Given the description of an element on the screen output the (x, y) to click on. 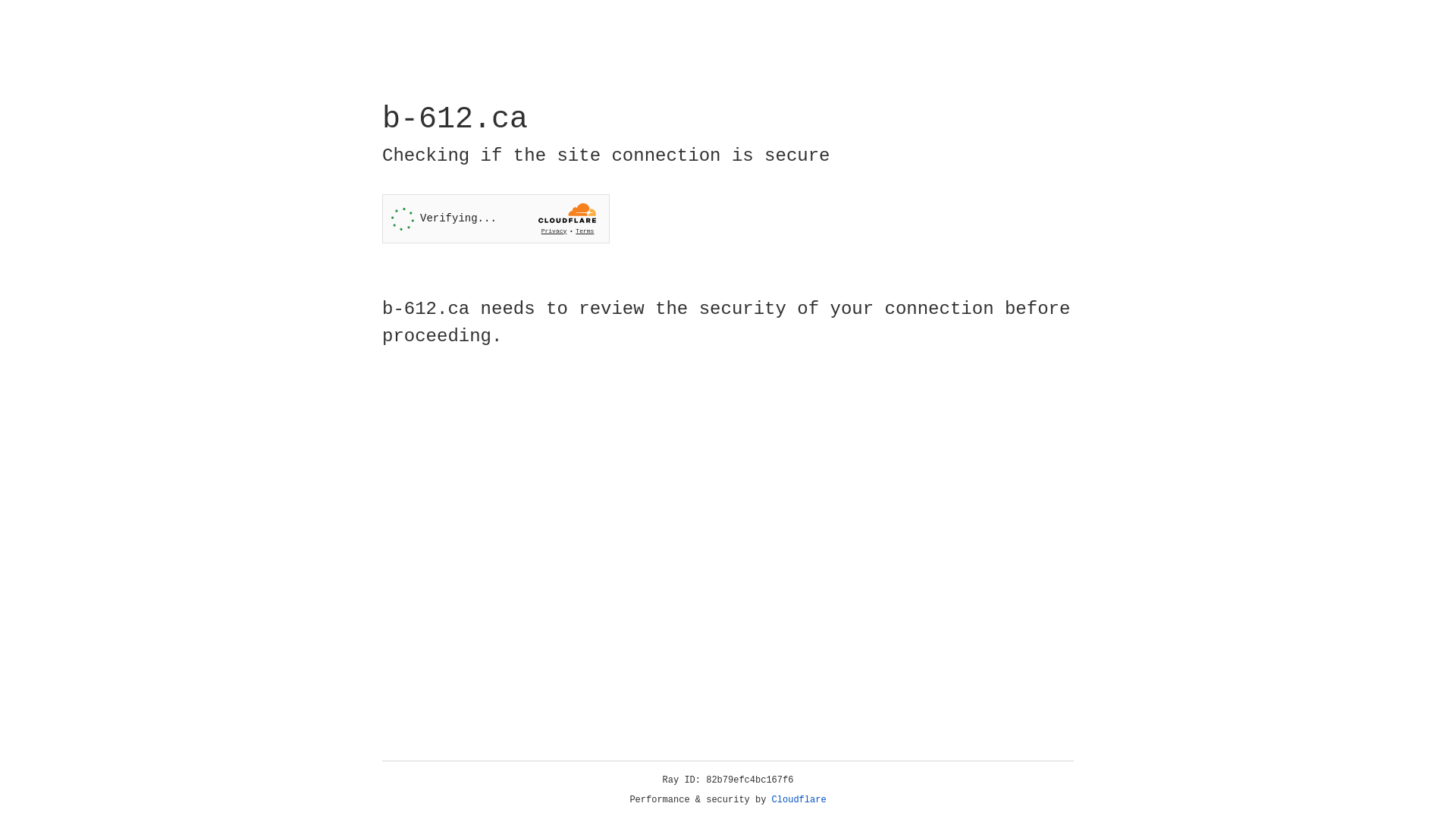
Widget containing a Cloudflare security challenge Element type: hover (495, 218)
Cloudflare Element type: text (798, 799)
